Given the description of an element on the screen output the (x, y) to click on. 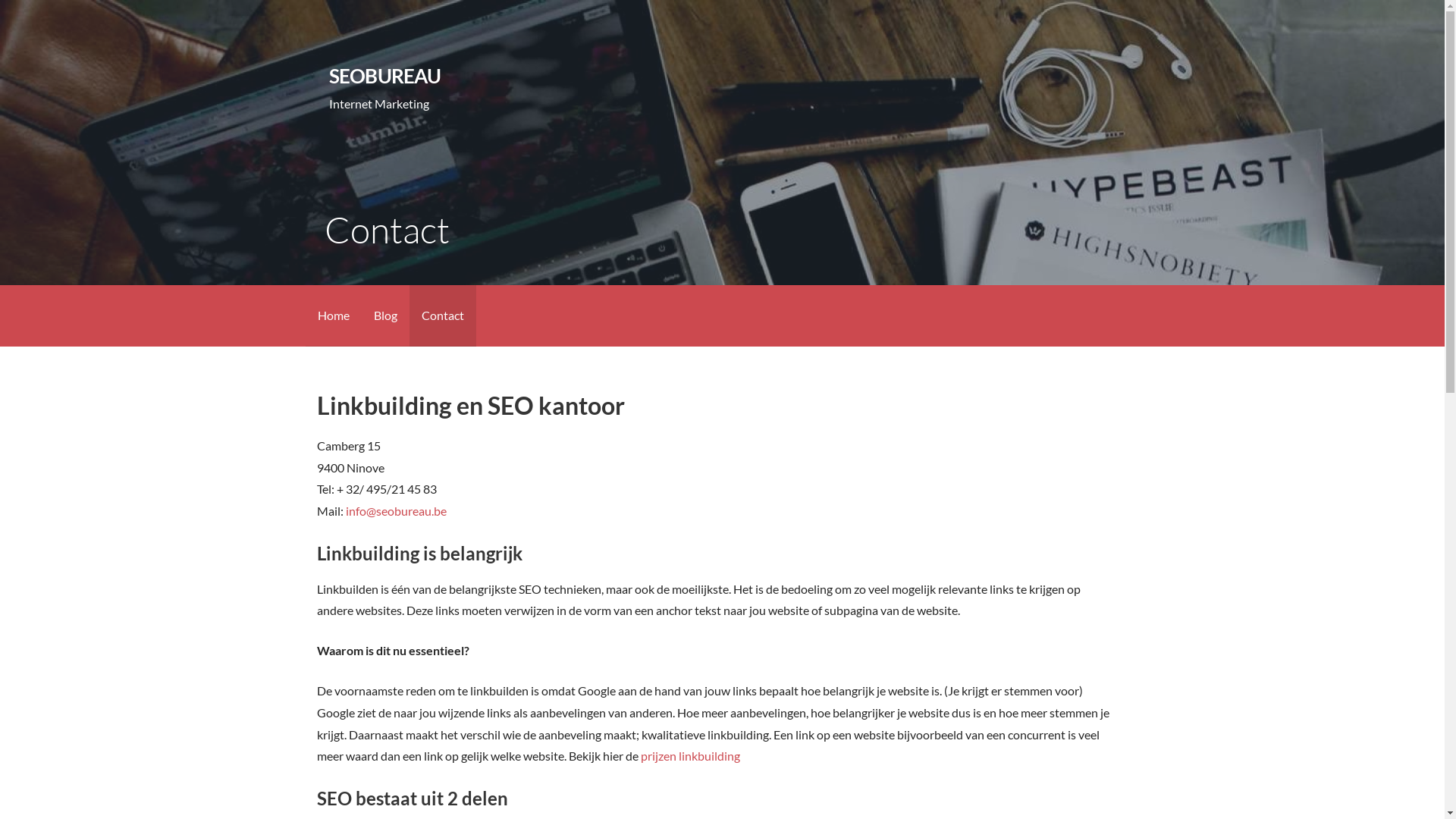
Home Element type: text (332, 315)
prijzen linkbuilding Element type: text (690, 755)
Contact Element type: text (442, 315)
SEOBUREAU Element type: text (384, 75)
Blog Element type: text (384, 315)
info@seobureau.be Element type: text (395, 510)
